Given the description of an element on the screen output the (x, y) to click on. 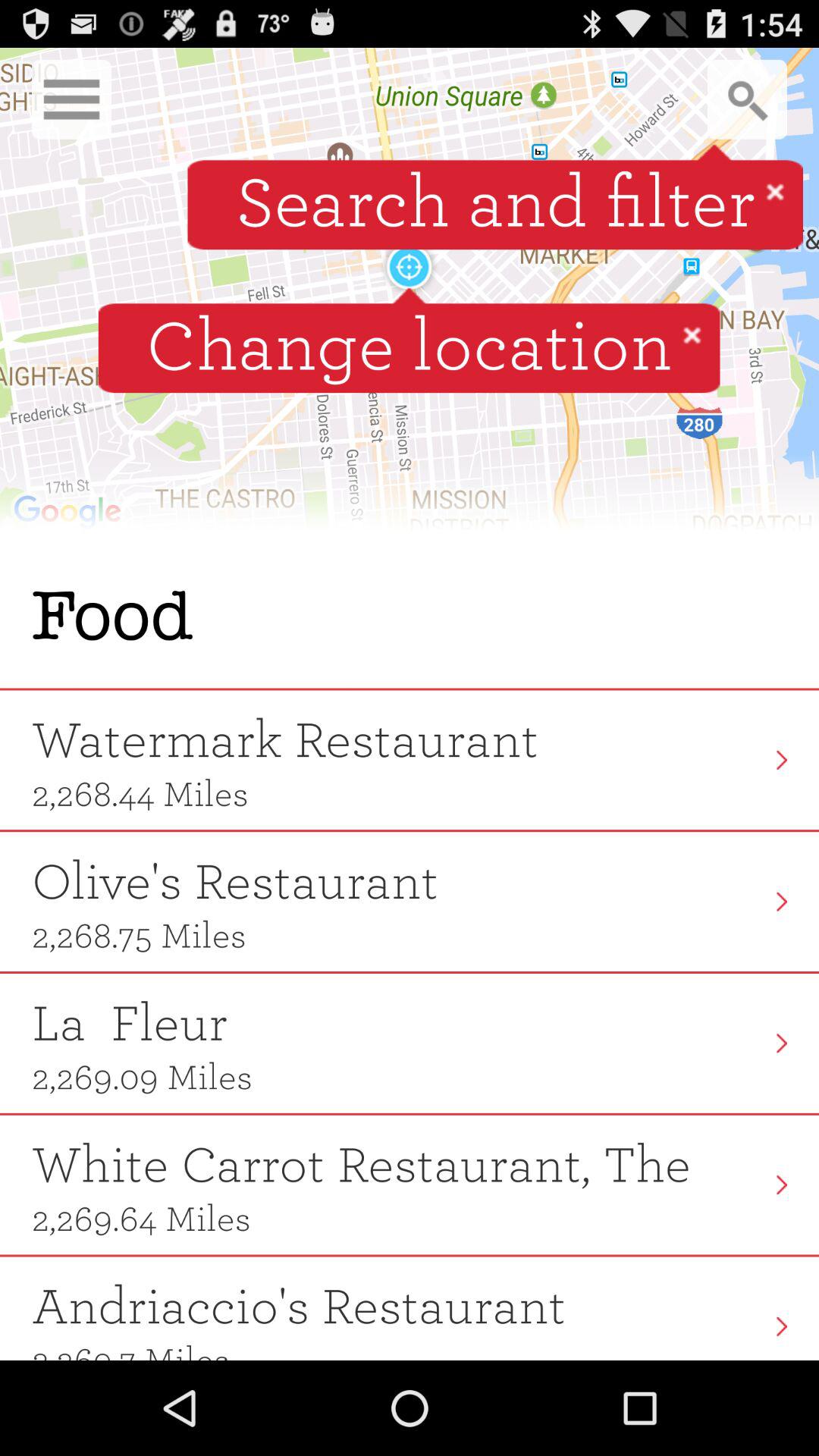
search button (747, 99)
